Given the description of an element on the screen output the (x, y) to click on. 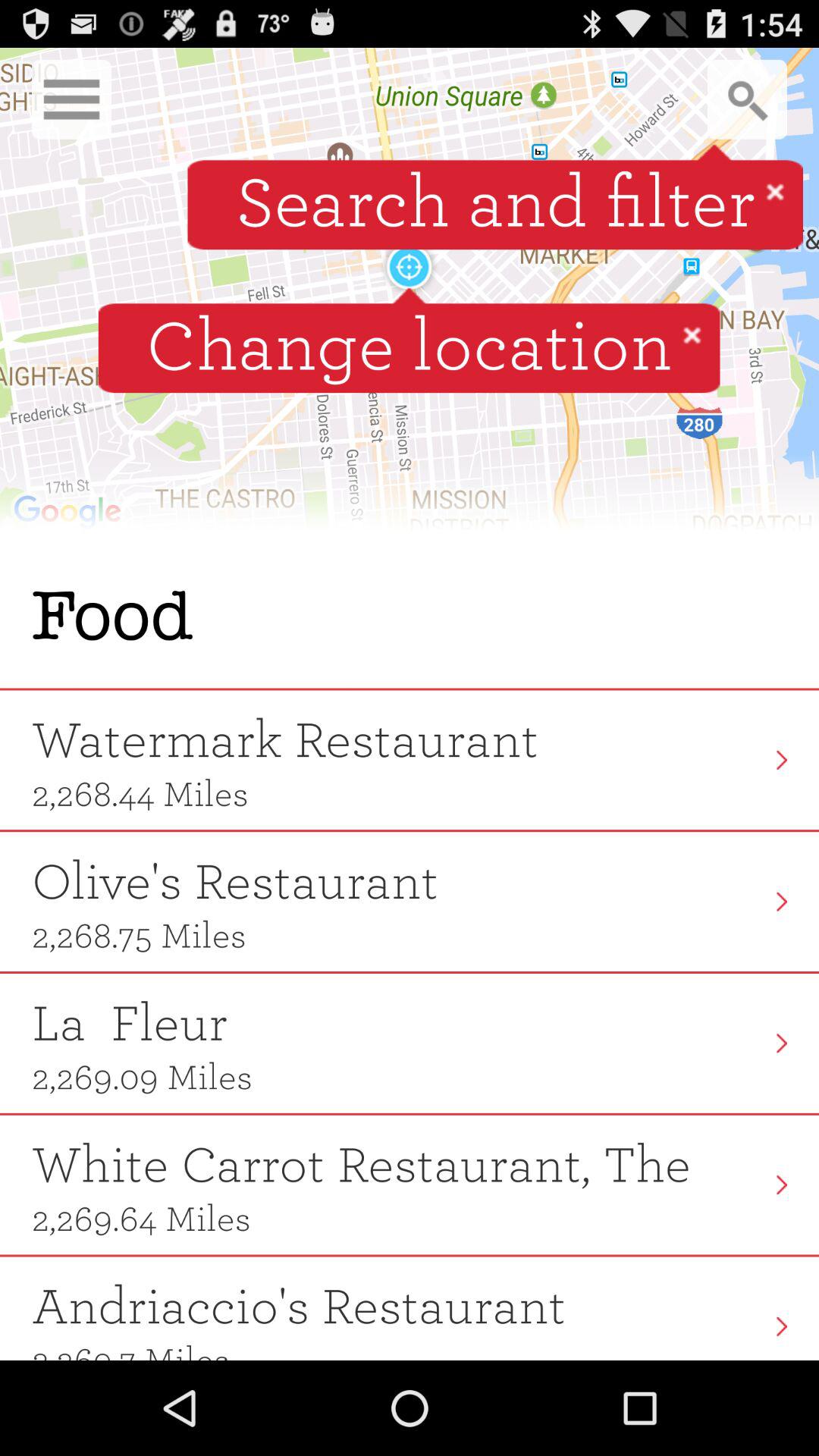
search button (747, 99)
